Given the description of an element on the screen output the (x, y) to click on. 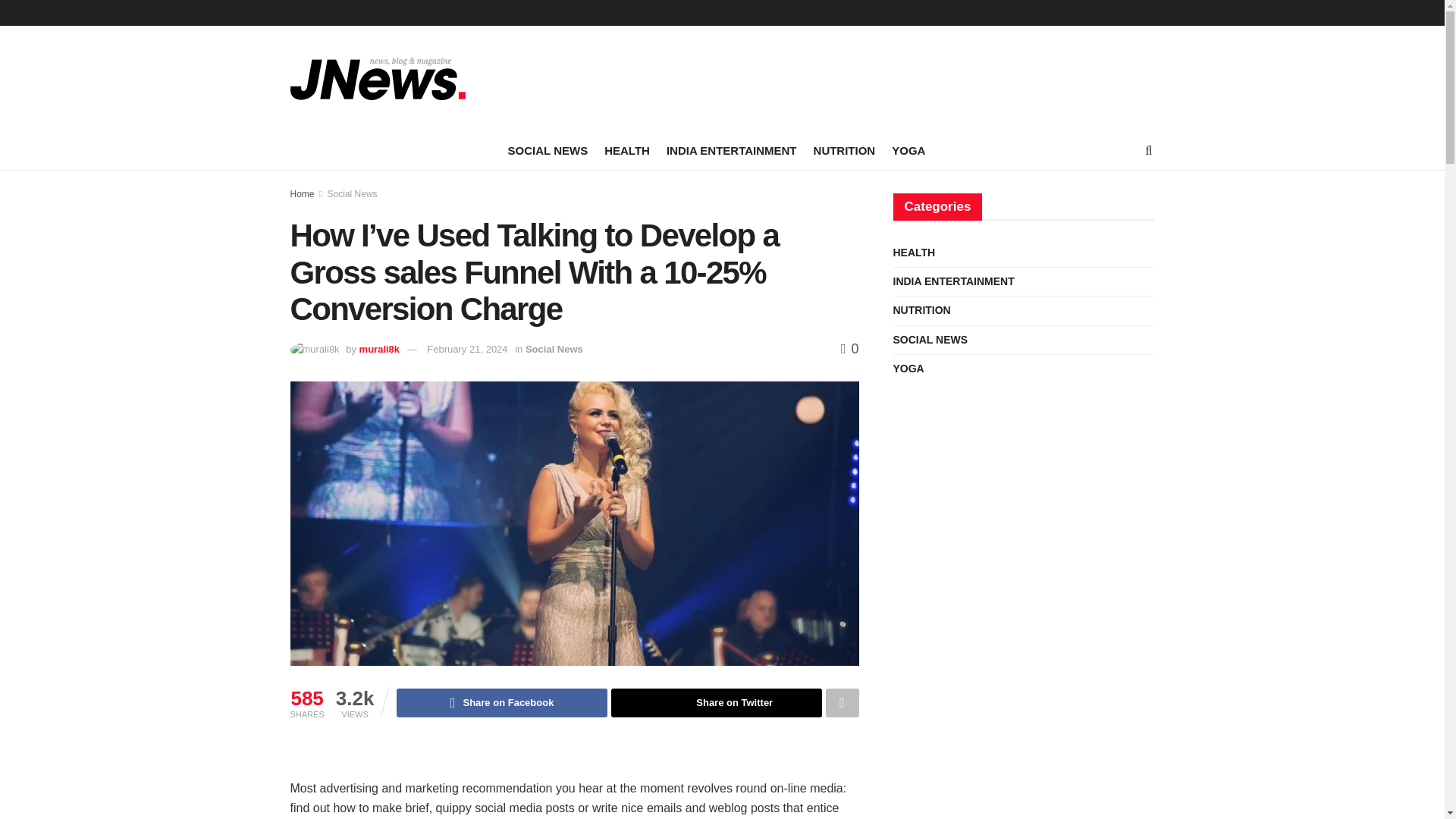
0 (850, 348)
YOGA (907, 150)
HEALTH (626, 150)
Share on Facebook (501, 702)
Social News (554, 348)
Home (301, 194)
INDIA ENTERTAINMENT (731, 150)
murali8k (378, 348)
February 21, 2024 (466, 348)
SOCIAL NEWS (548, 150)
Share on Twitter (716, 702)
Social News (352, 194)
NUTRITION (844, 150)
